Given the description of an element on the screen output the (x, y) to click on. 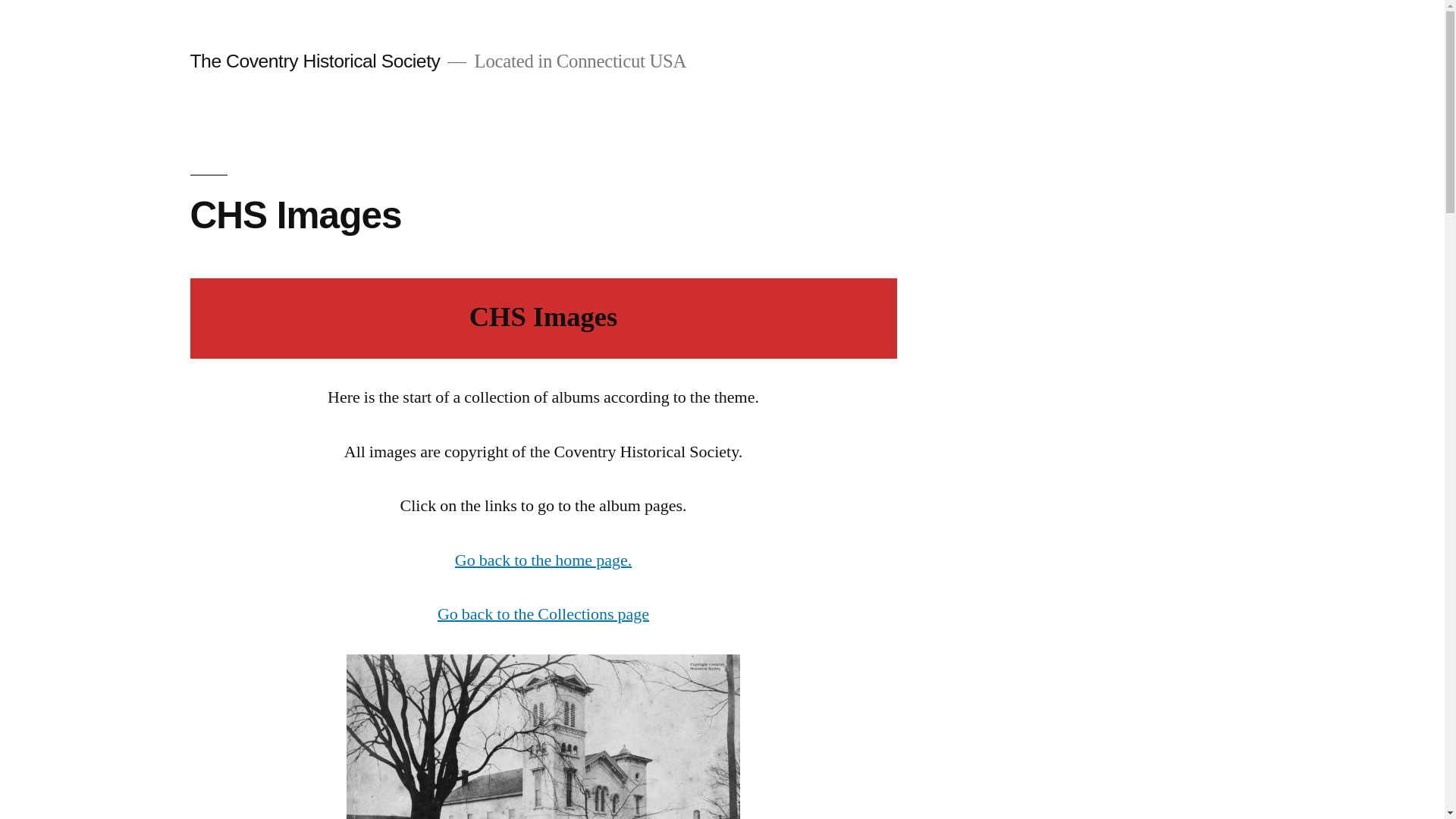
Go back to the home page. (542, 559)
The Coventry Historical Society (314, 60)
Go back to the Collections page (543, 613)
